Given the description of an element on the screen output the (x, y) to click on. 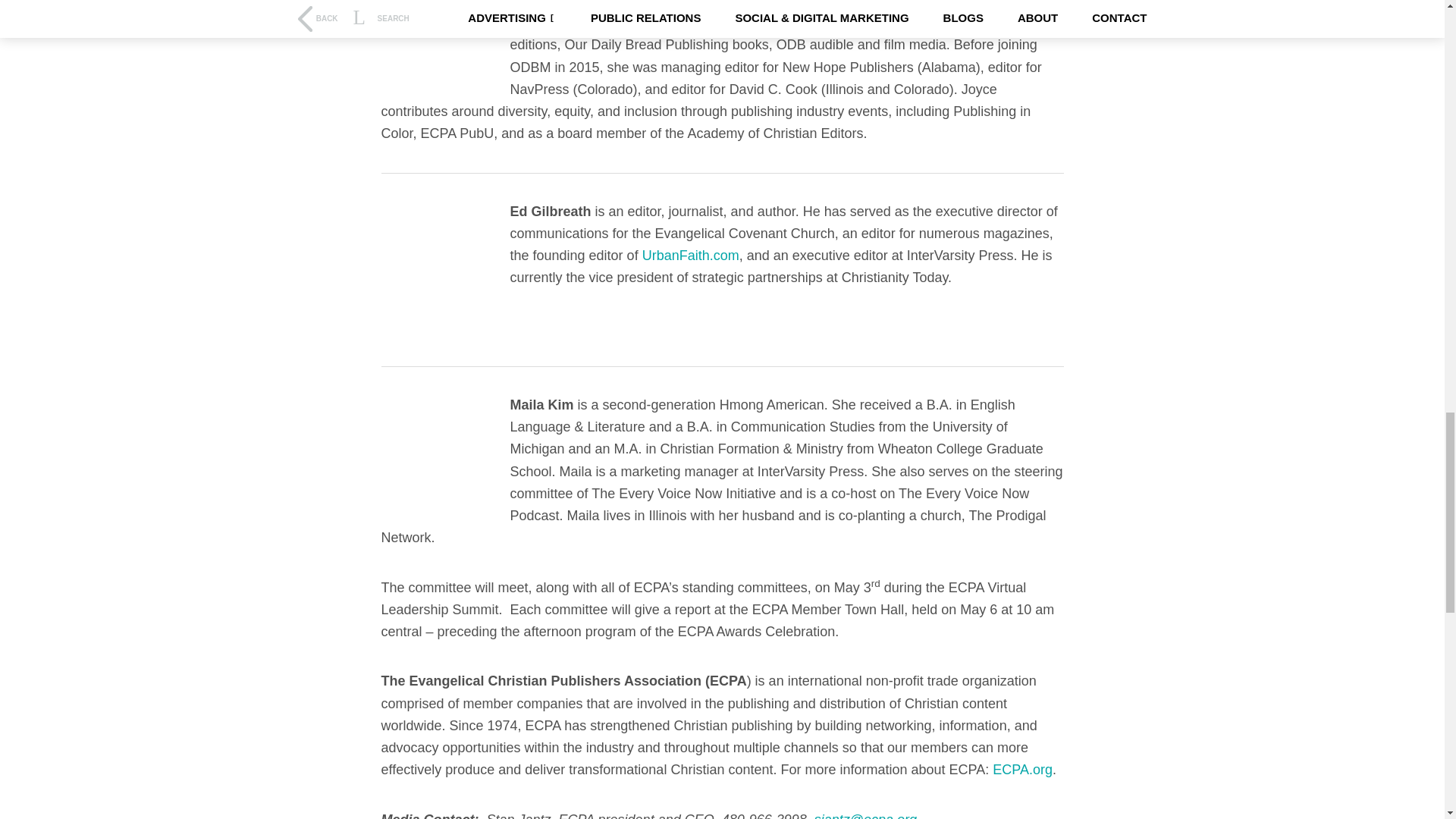
ECPA.org (1022, 769)
UrbanFaith.com (690, 255)
